Given the description of an element on the screen output the (x, y) to click on. 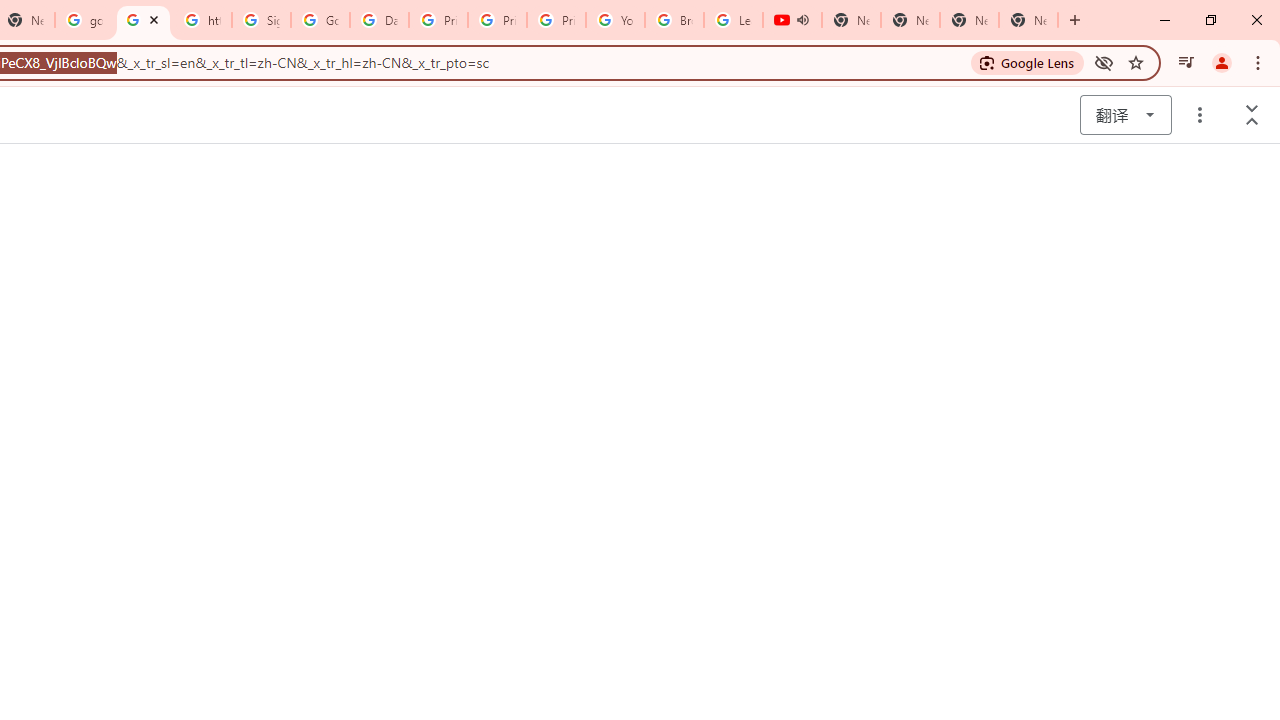
Sign in - Google Accounts (260, 20)
New Tab (1028, 20)
https://scholar.google.com/ (201, 20)
